Given the description of an element on the screen output the (x, y) to click on. 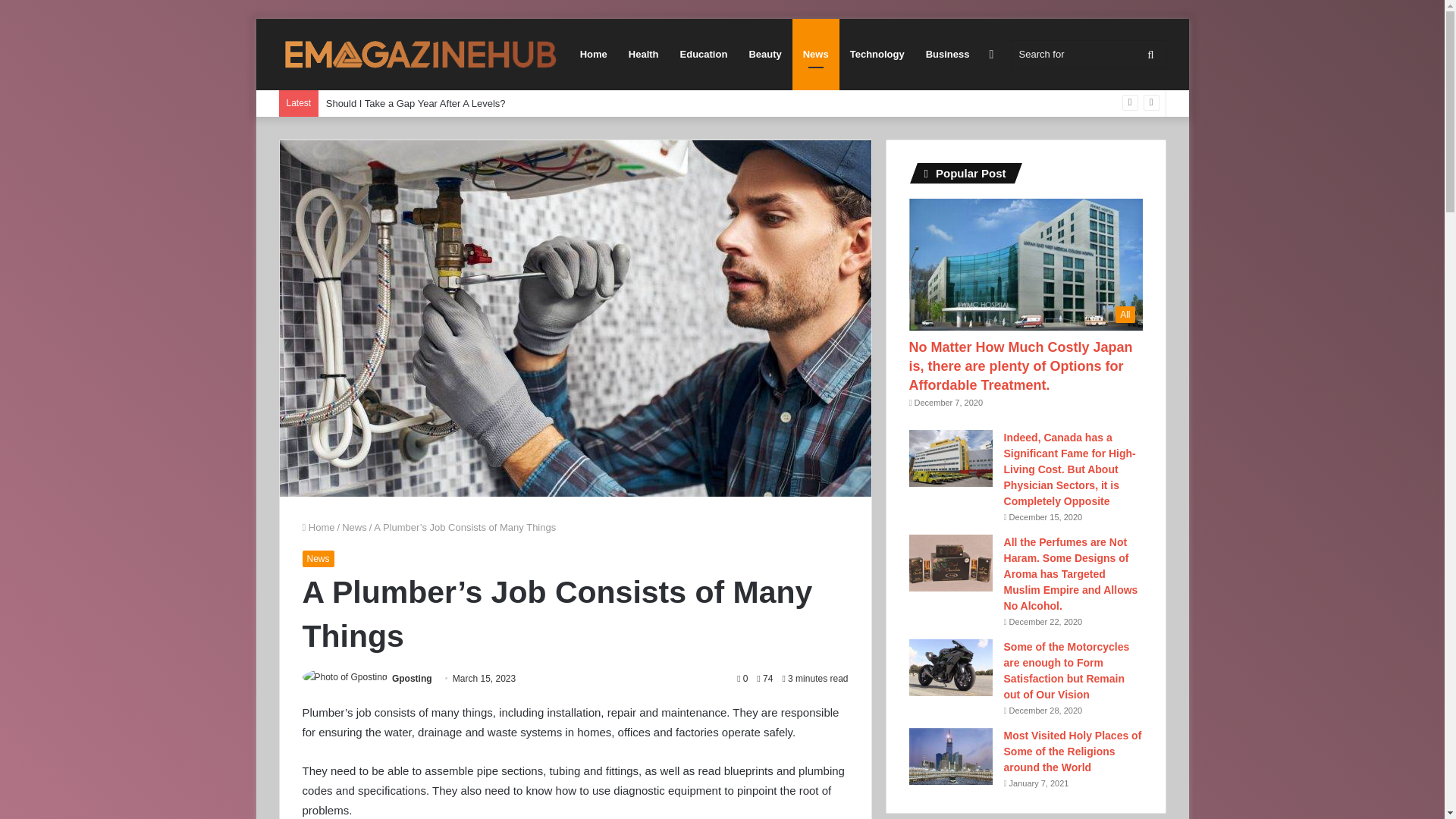
Gposting (411, 678)
eMagazineHub (419, 54)
Should I Take a Gap Year After A Levels? (415, 102)
News (317, 558)
Home (317, 527)
Technology (877, 54)
Education (703, 54)
Gposting (411, 678)
Search for (1088, 53)
Business (947, 54)
